Given the description of an element on the screen output the (x, y) to click on. 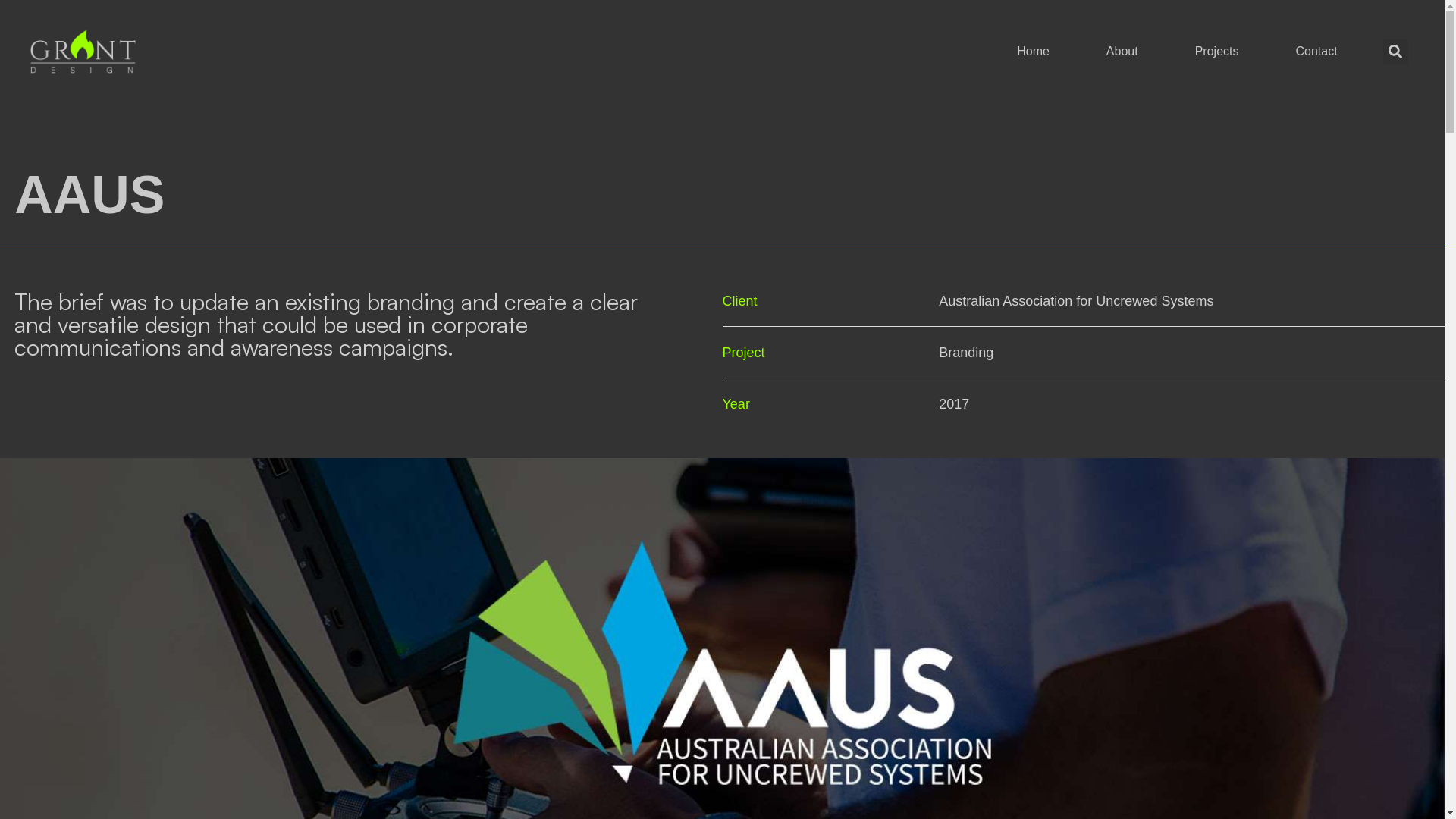
Contact Element type: text (1315, 51)
Home Element type: text (1032, 51)
Projects Element type: text (1217, 51)
About Element type: text (1122, 51)
